Given the description of an element on the screen output the (x, y) to click on. 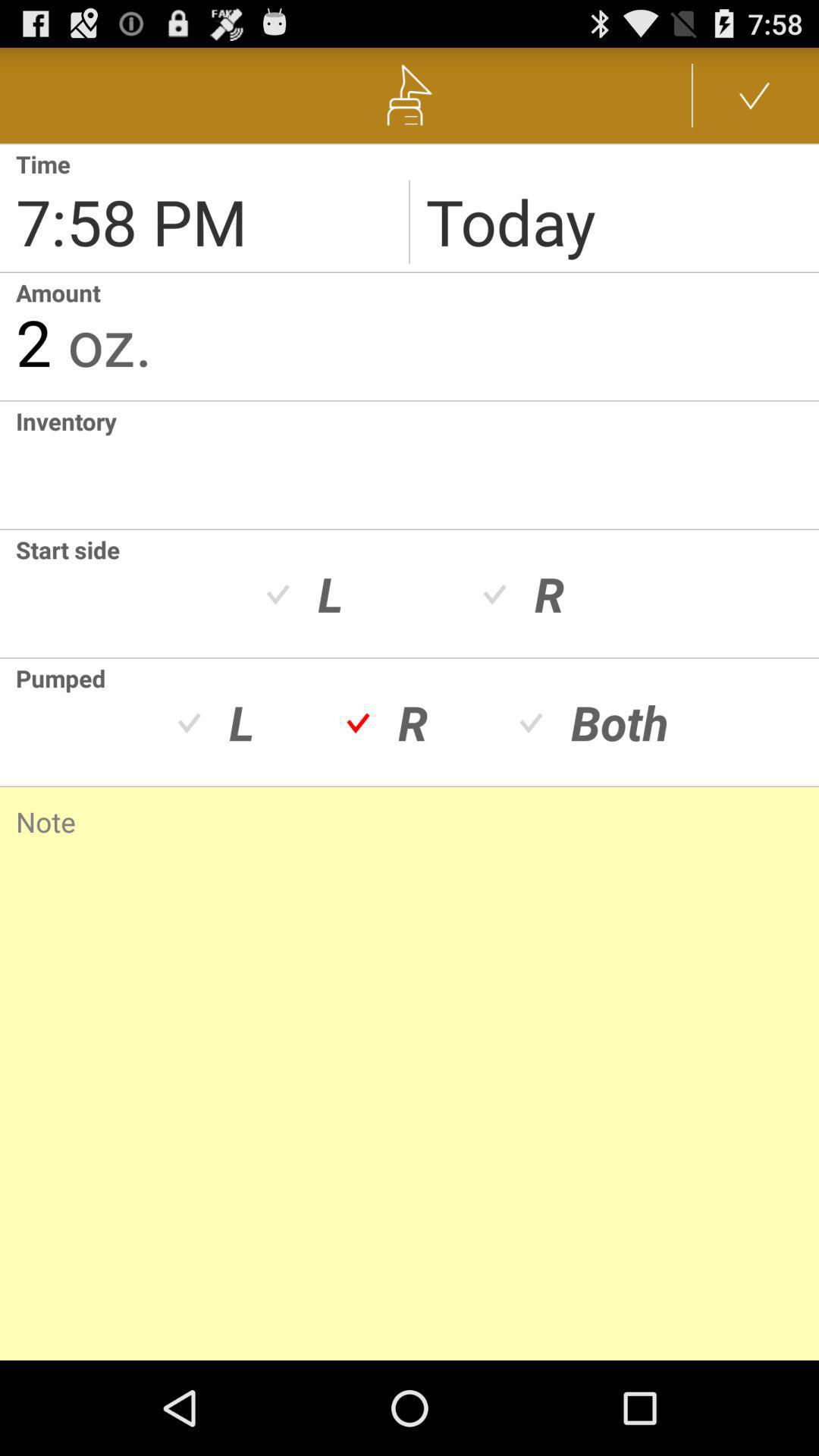
note area (409, 1053)
